Given the description of an element on the screen output the (x, y) to click on. 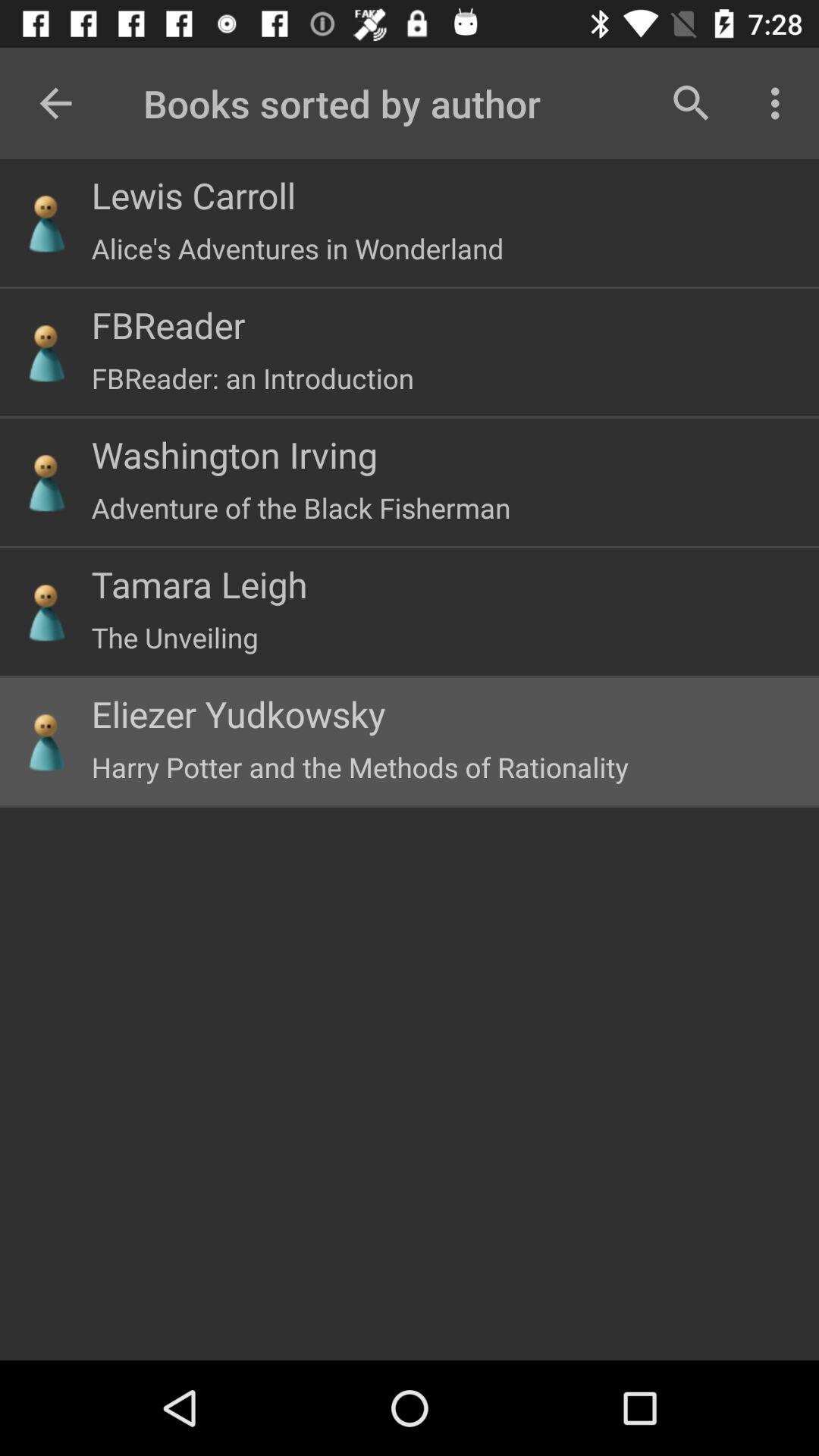
click icon below the eliezer yudkowsky item (359, 767)
